Given the description of an element on the screen output the (x, y) to click on. 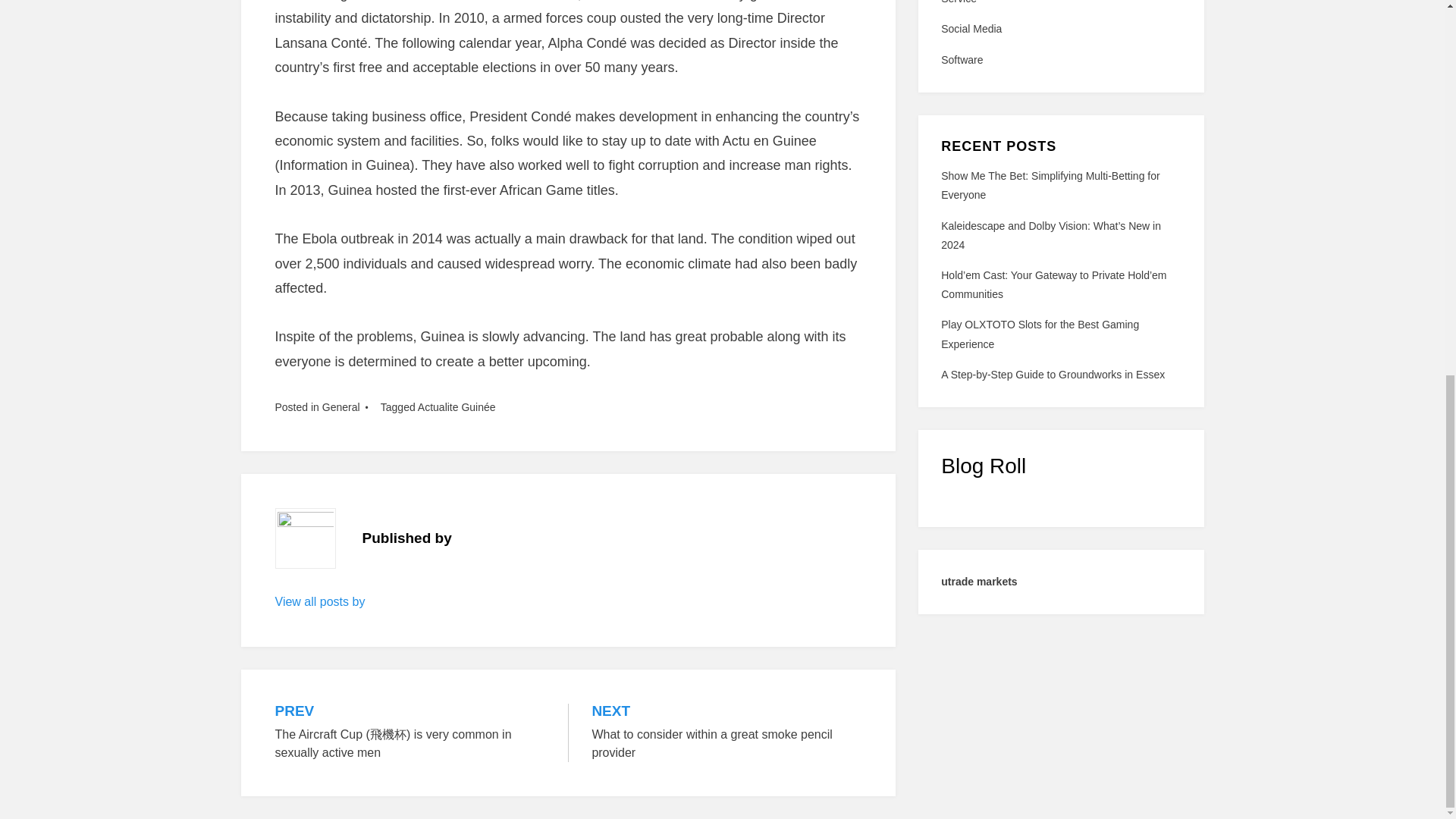
Play OLXTOTO Slots for the Best Gaming Experience (726, 731)
Show Me The Bet: Simplifying Multi-Betting for Everyone (1039, 333)
Social Media (1049, 184)
Software (1060, 28)
A Step-by-Step Guide to Groundworks in Essex (1060, 59)
General (1052, 374)
utrade markets (340, 407)
View all posts by (978, 581)
Service (320, 601)
